Given the description of an element on the screen output the (x, y) to click on. 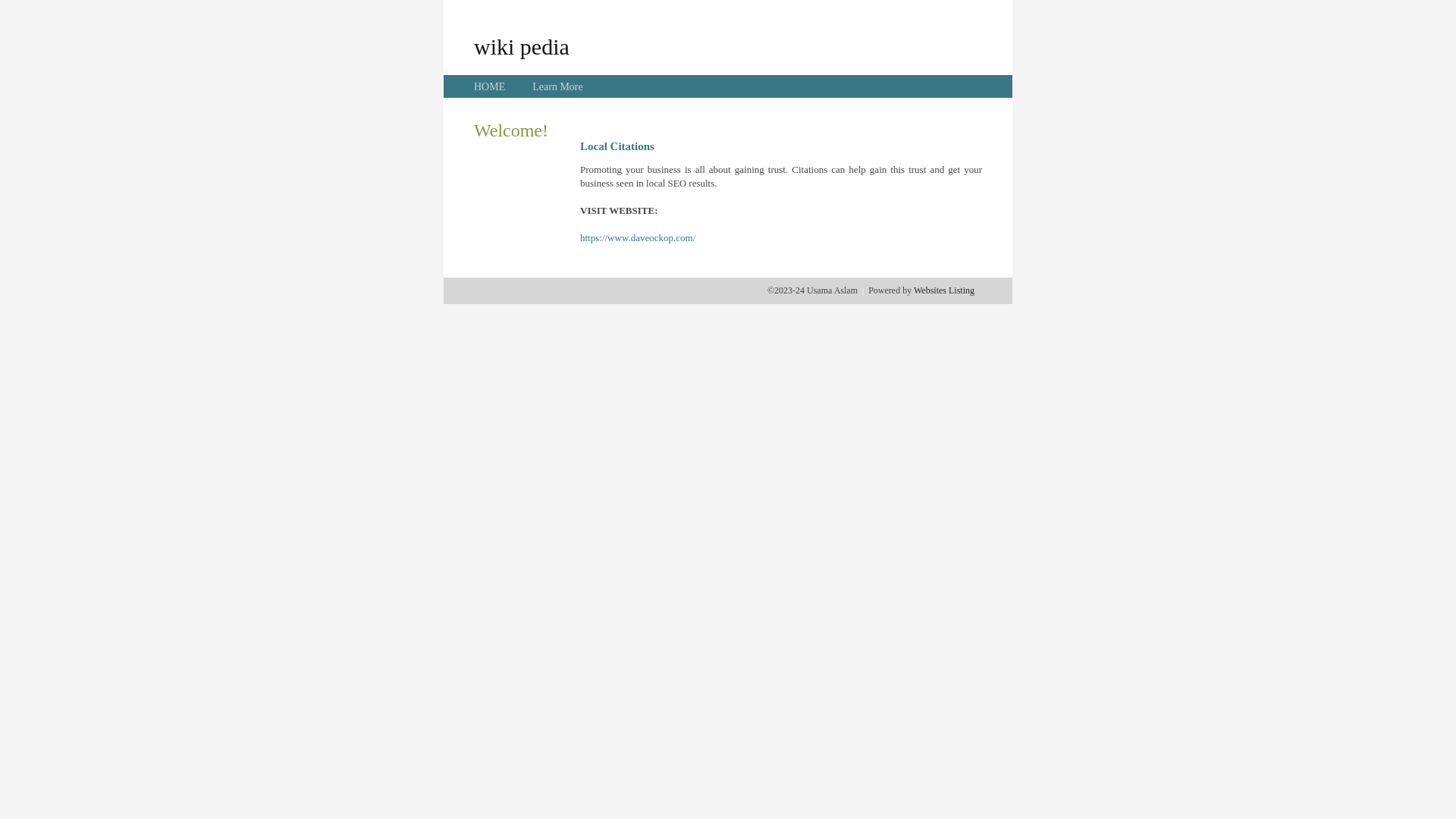
https://www.daveockop.com/ Element type: text (637, 237)
Websites Listing Element type: text (943, 290)
HOME Element type: text (489, 86)
Learn More Element type: text (557, 86)
wiki pedia Element type: text (521, 46)
